Given the description of an element on the screen output the (x, y) to click on. 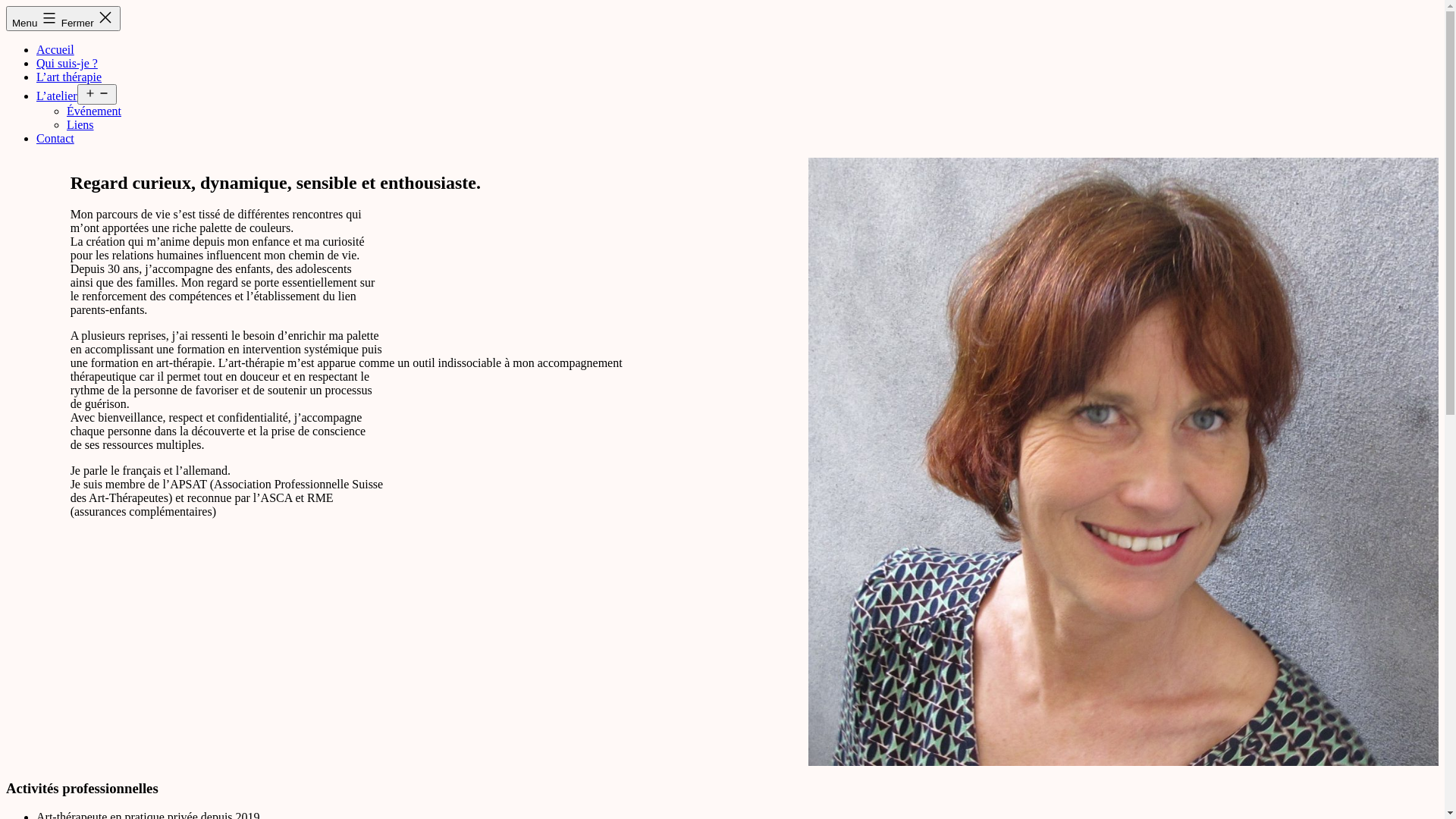
Qui suis-je ? Element type: text (66, 62)
Menu Fermer Element type: text (63, 18)
Contact Element type: text (55, 137)
Liens Element type: text (80, 124)
Ouvrir le menu Element type: text (96, 94)
Aller au contenu Element type: text (5, 5)
Accueil Element type: text (55, 49)
